Given the description of an element on the screen output the (x, y) to click on. 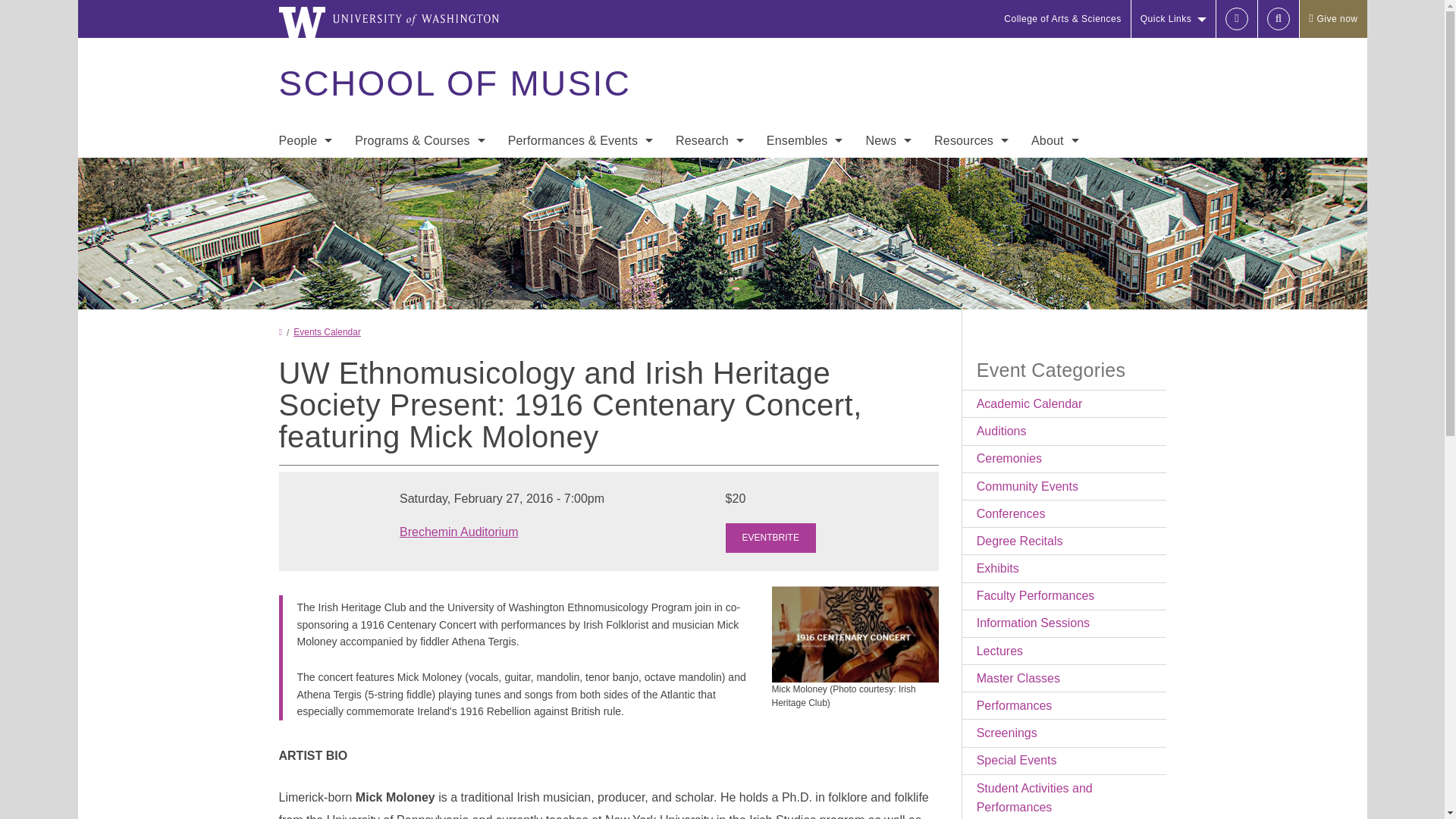
Alumni (304, 294)
 Give now (1332, 18)
Hire a Musician (304, 263)
People (304, 140)
Quick Links (1173, 18)
Graduate Students (304, 233)
Faculty (304, 173)
Areas of Study (419, 173)
Staff (304, 203)
